Given the description of an element on the screen output the (x, y) to click on. 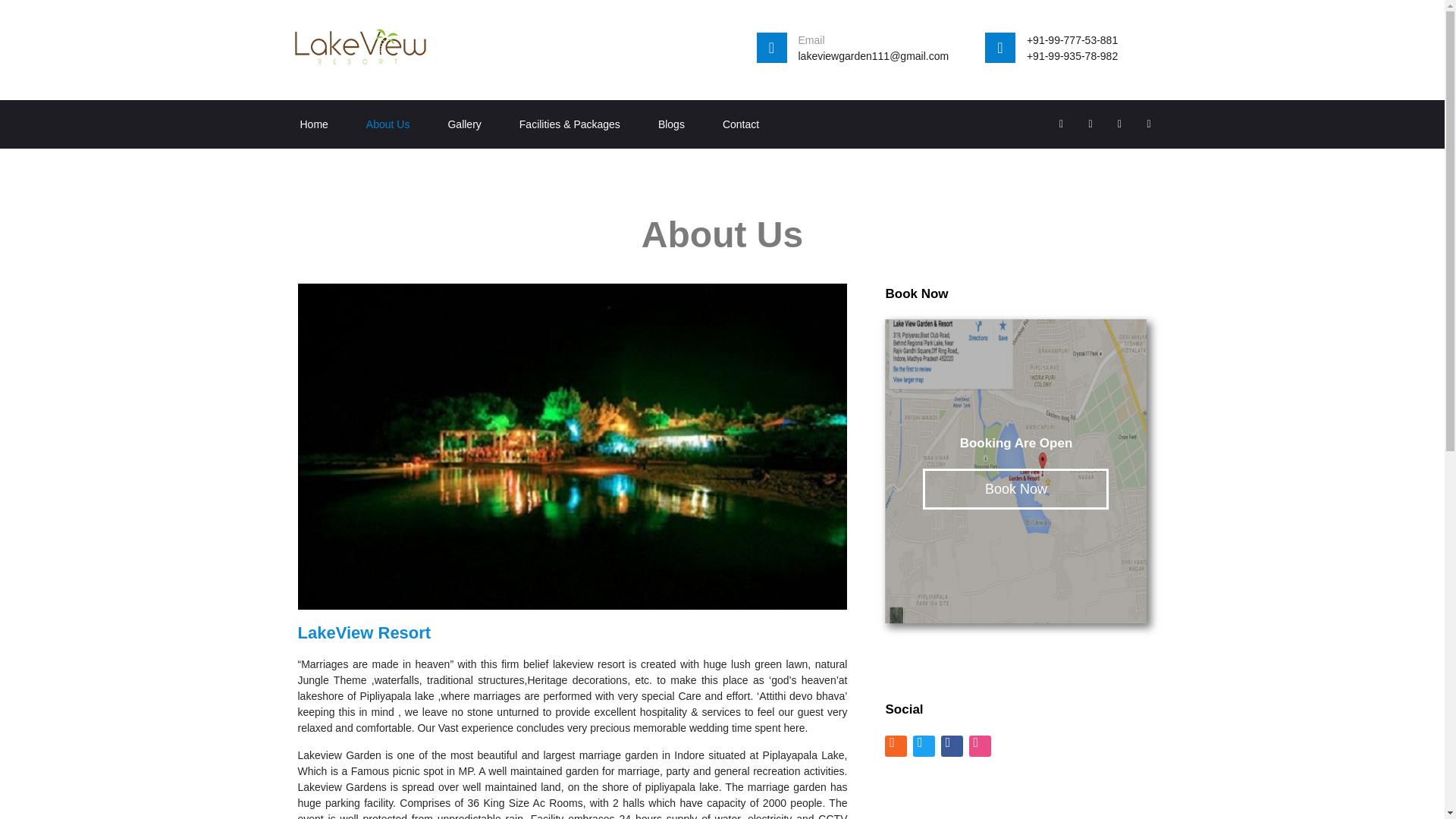
Home (313, 123)
Blogs (671, 123)
Gallery (463, 123)
Contact (740, 123)
Book Now (1015, 488)
About Us (388, 123)
